Given the description of an element on the screen output the (x, y) to click on. 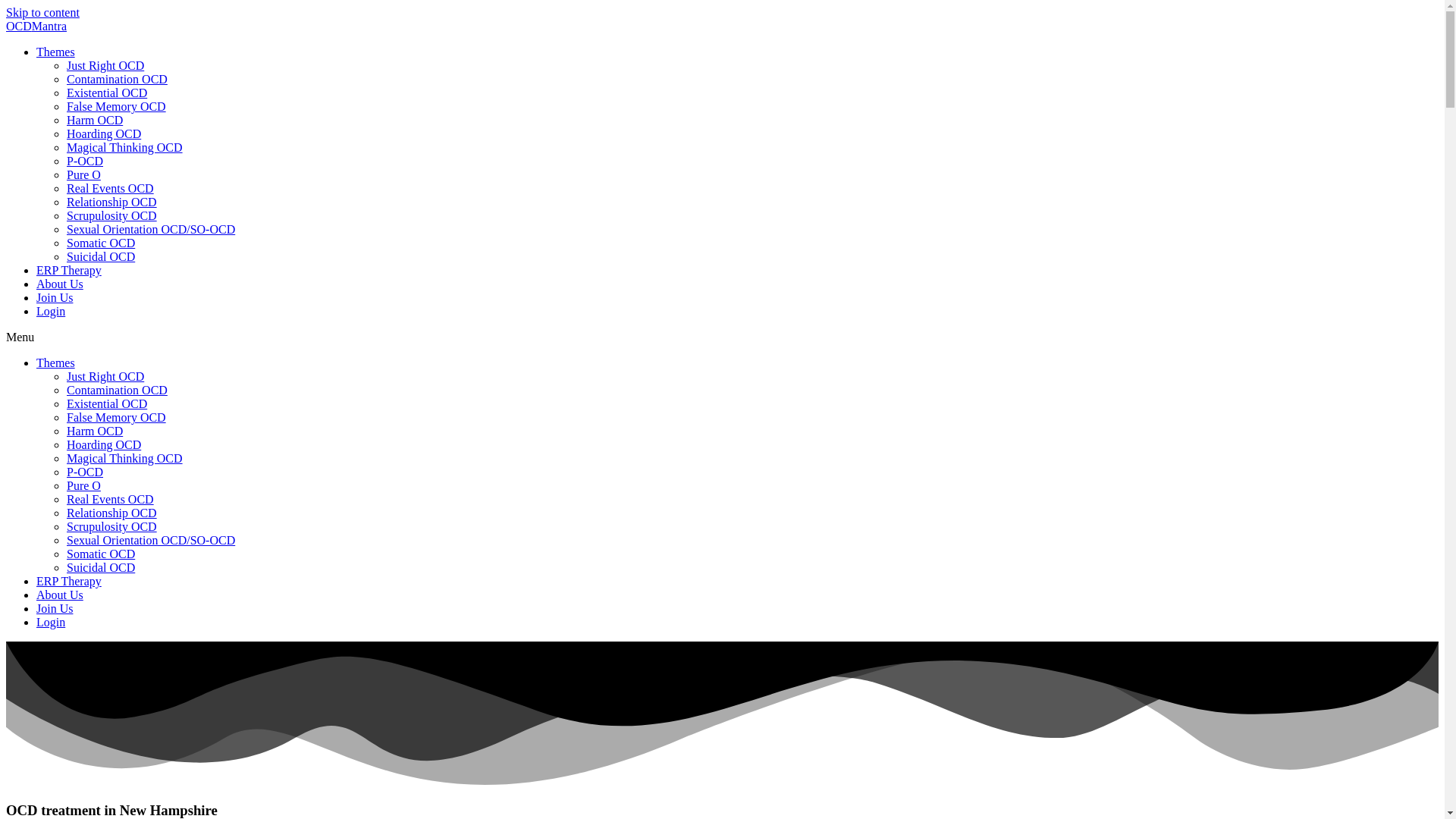
Scrupulosity OCD (111, 215)
Harm OCD (94, 119)
Existential OCD (106, 403)
Join Us (54, 297)
Magical Thinking OCD (124, 458)
Just Right OCD (105, 65)
Pure O (83, 174)
Existential OCD (106, 92)
Scrupulosity OCD (111, 526)
Contamination OCD (116, 390)
Harm OCD (94, 431)
Suicidal OCD (100, 567)
Themes (55, 51)
OCDMantra (35, 25)
Real Events OCD (110, 499)
